Given the description of an element on the screen output the (x, y) to click on. 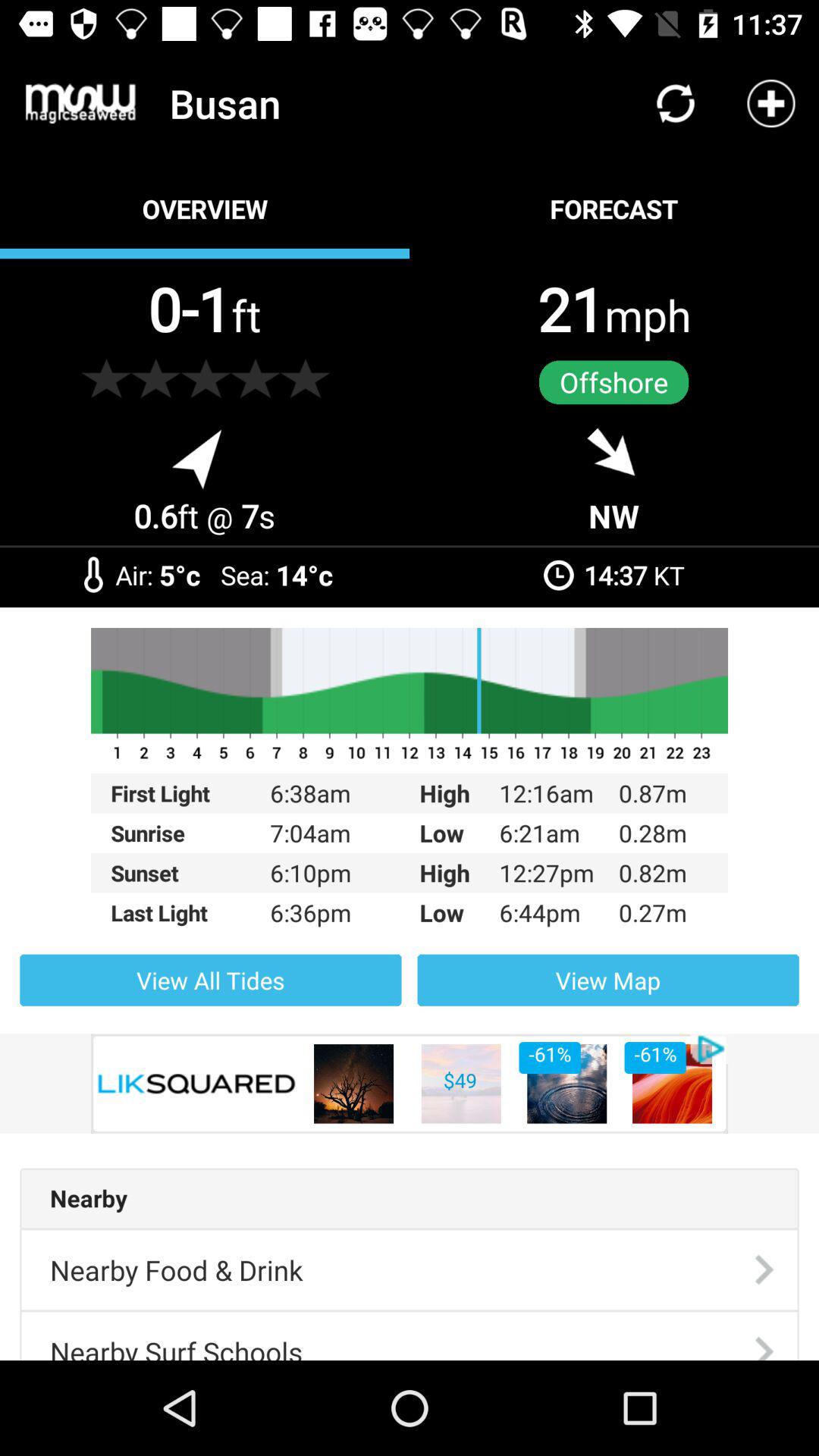
choose 0-1ft item (204, 308)
